Given the description of an element on the screen output the (x, y) to click on. 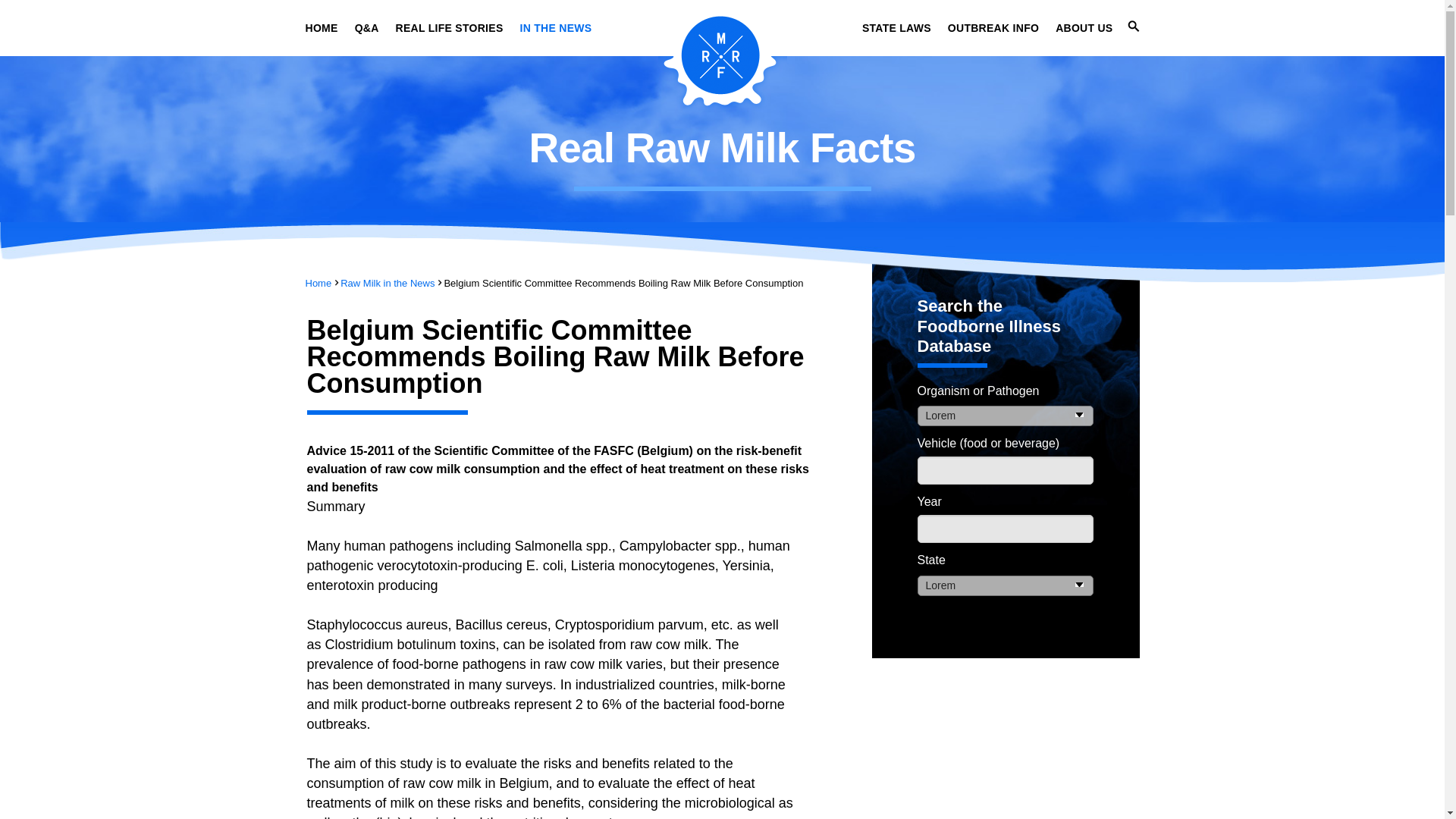
ABOUT US (1083, 28)
Raw Milk in the News (386, 283)
IN THE NEWS (555, 28)
STATE LAWS (896, 28)
Home (317, 283)
REAL LIFE STORIES (449, 28)
HOME (320, 28)
OUTBREAK INFO (993, 28)
